Given the description of an element on the screen output the (x, y) to click on. 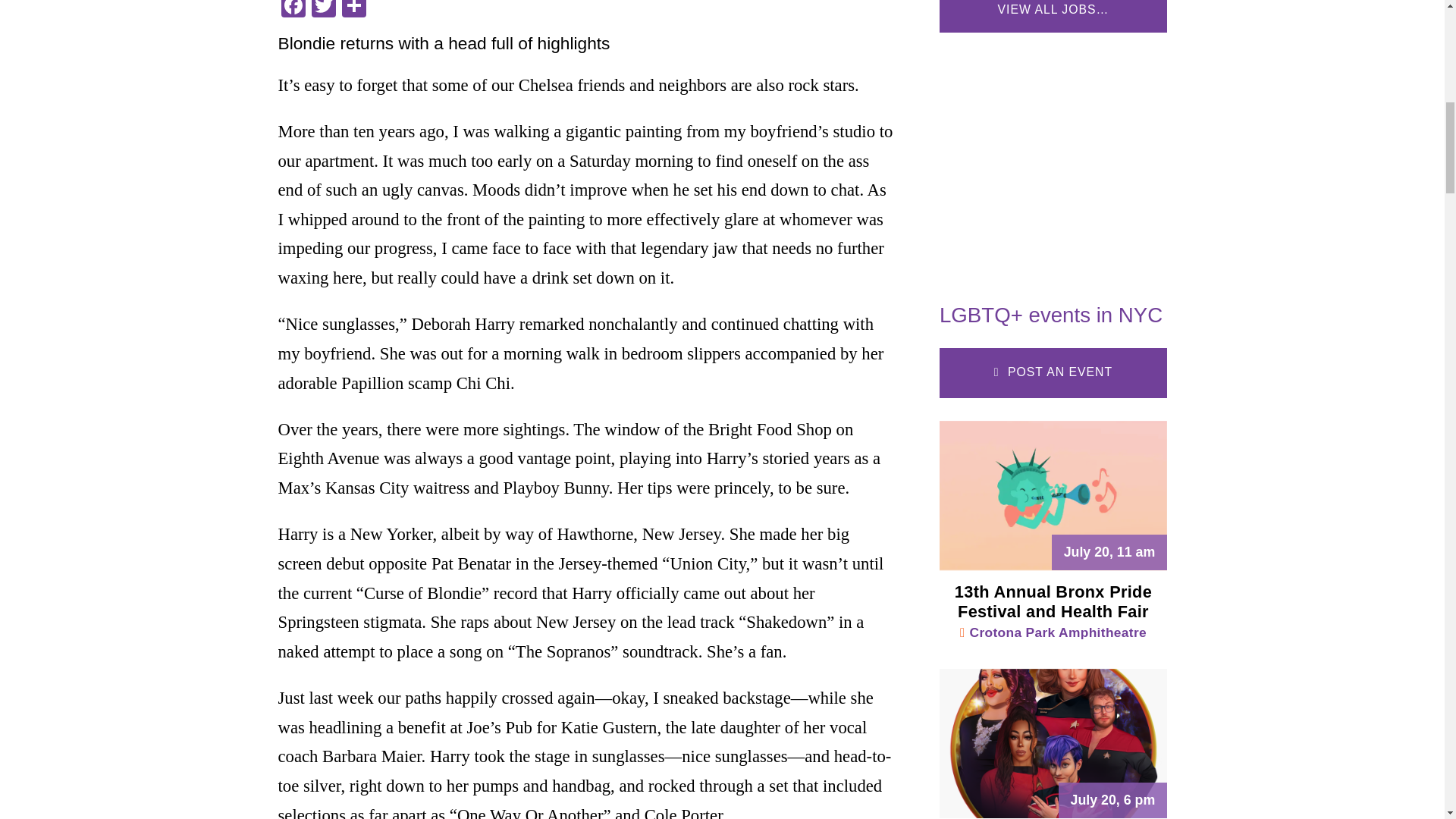
Facebook (292, 10)
3rd party ad content (1052, 161)
Twitter (322, 10)
